Given the description of an element on the screen output the (x, y) to click on. 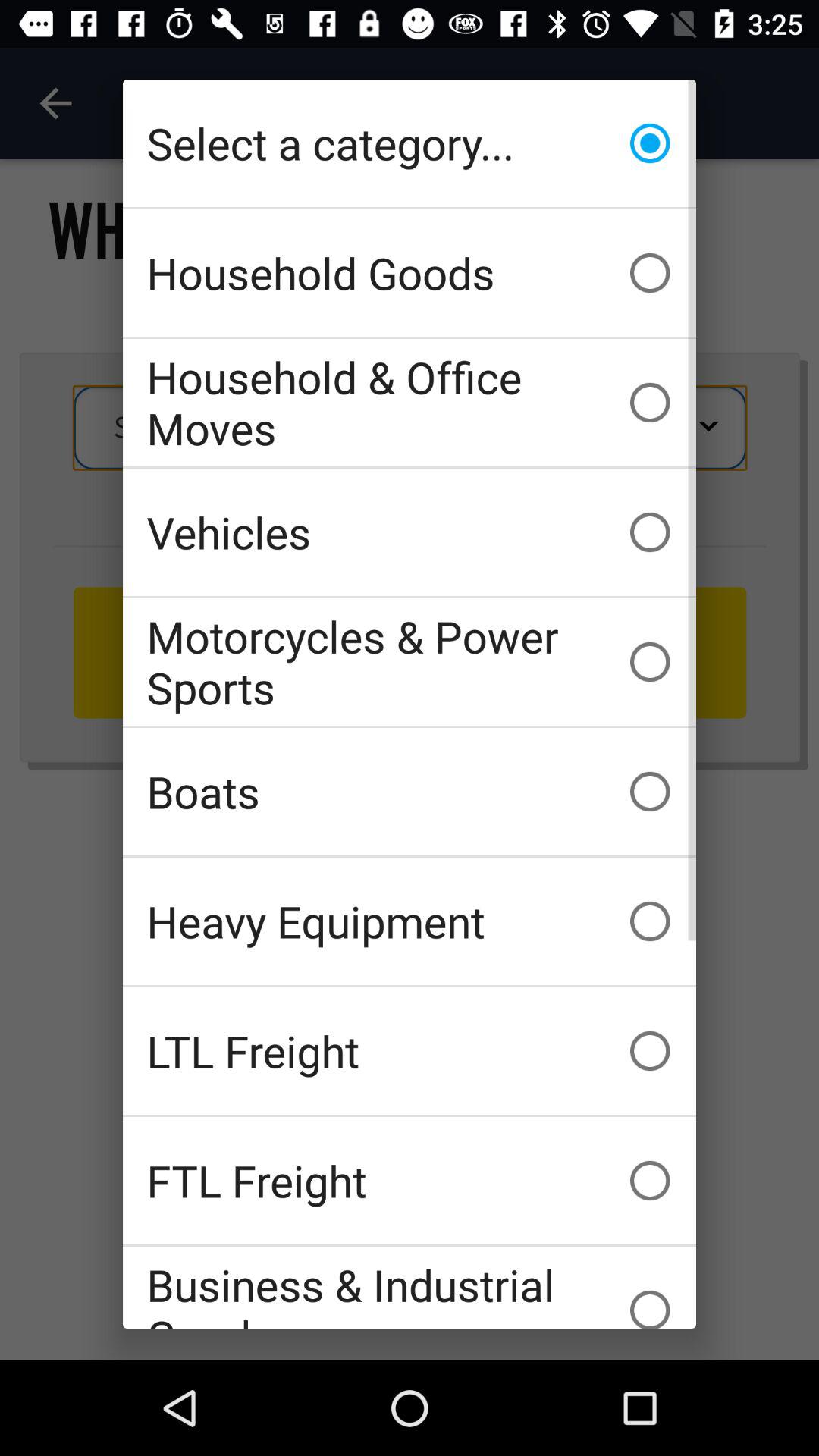
open icon below select a category... item (409, 272)
